Given the description of an element on the screen output the (x, y) to click on. 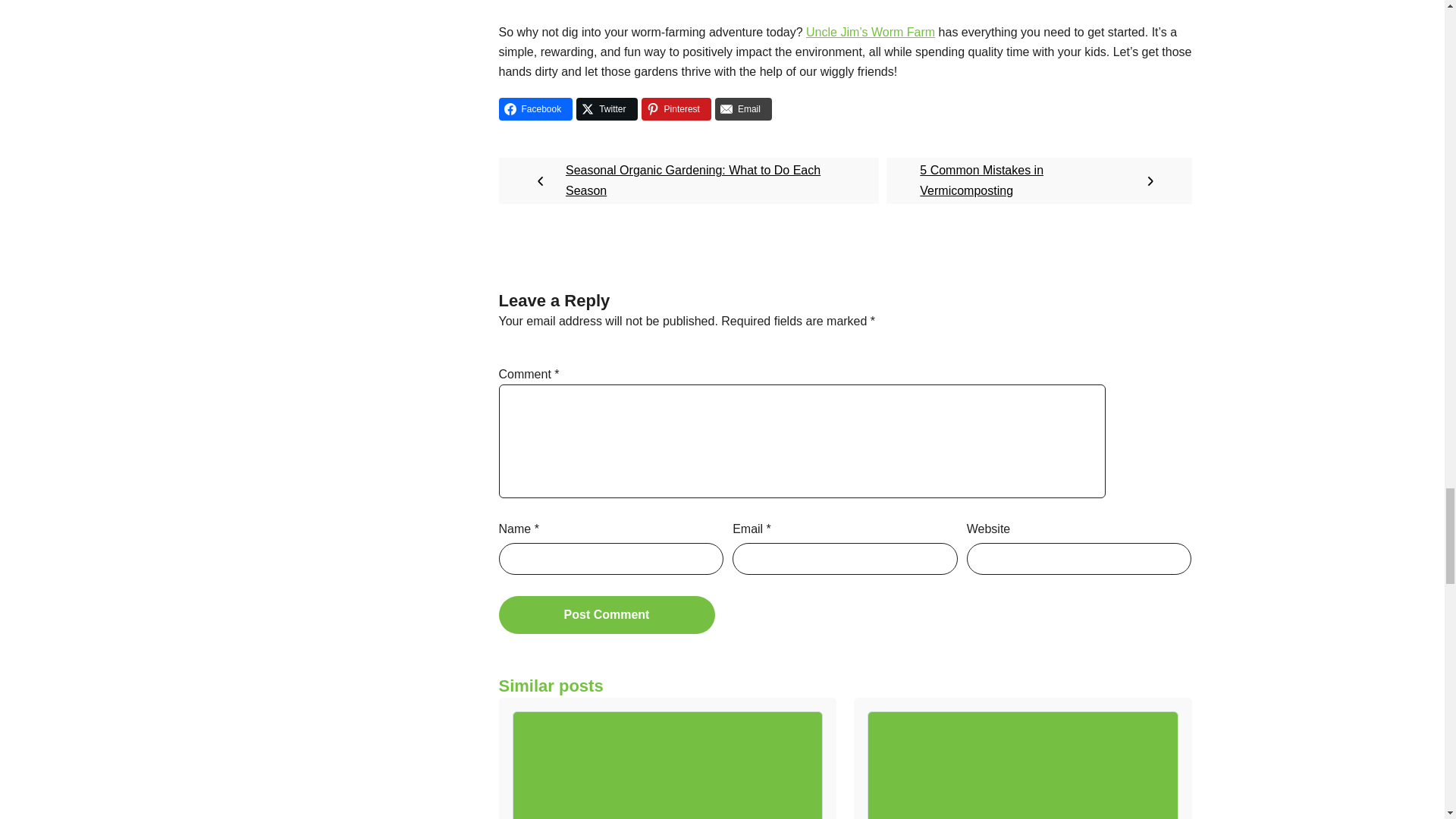
Post Comment (606, 614)
Share on Pinterest (676, 108)
Share on Email (742, 108)
Share on Facebook (536, 108)
Share on Twitter (606, 108)
